Given the description of an element on the screen output the (x, y) to click on. 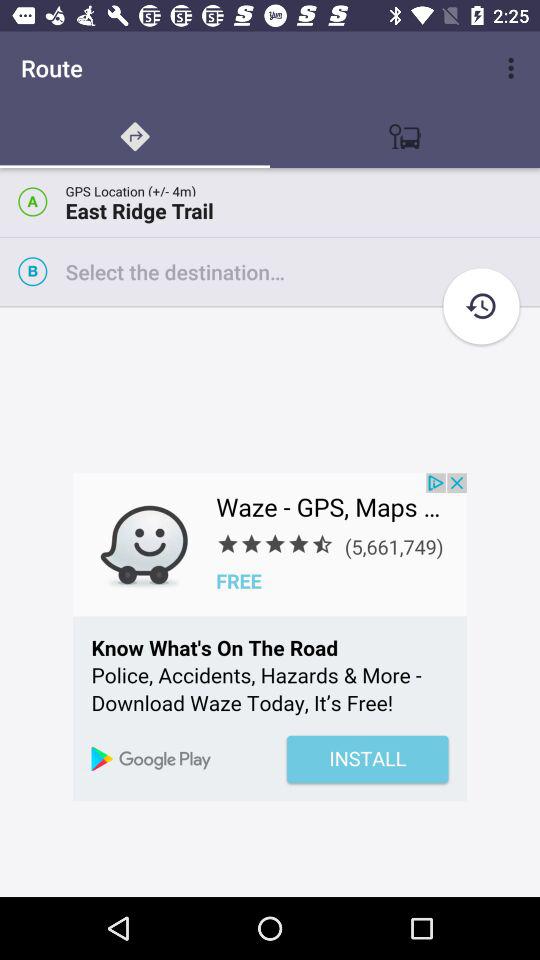
advertisement link (269, 637)
